Given the description of an element on the screen output the (x, y) to click on. 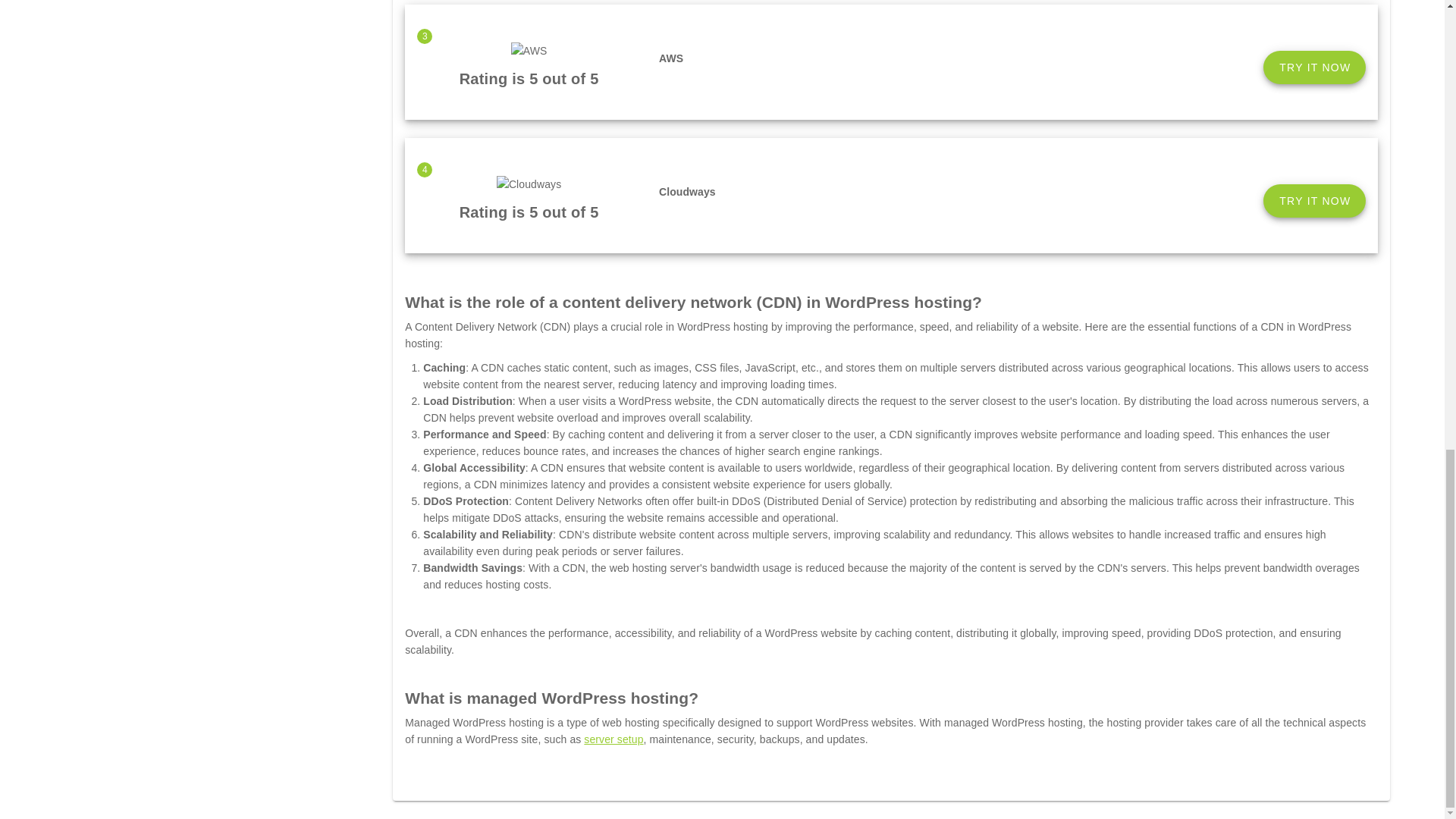
TRY IT NOW (1314, 67)
server setup (613, 739)
TRY IT NOW (1314, 200)
